Given the description of an element on the screen output the (x, y) to click on. 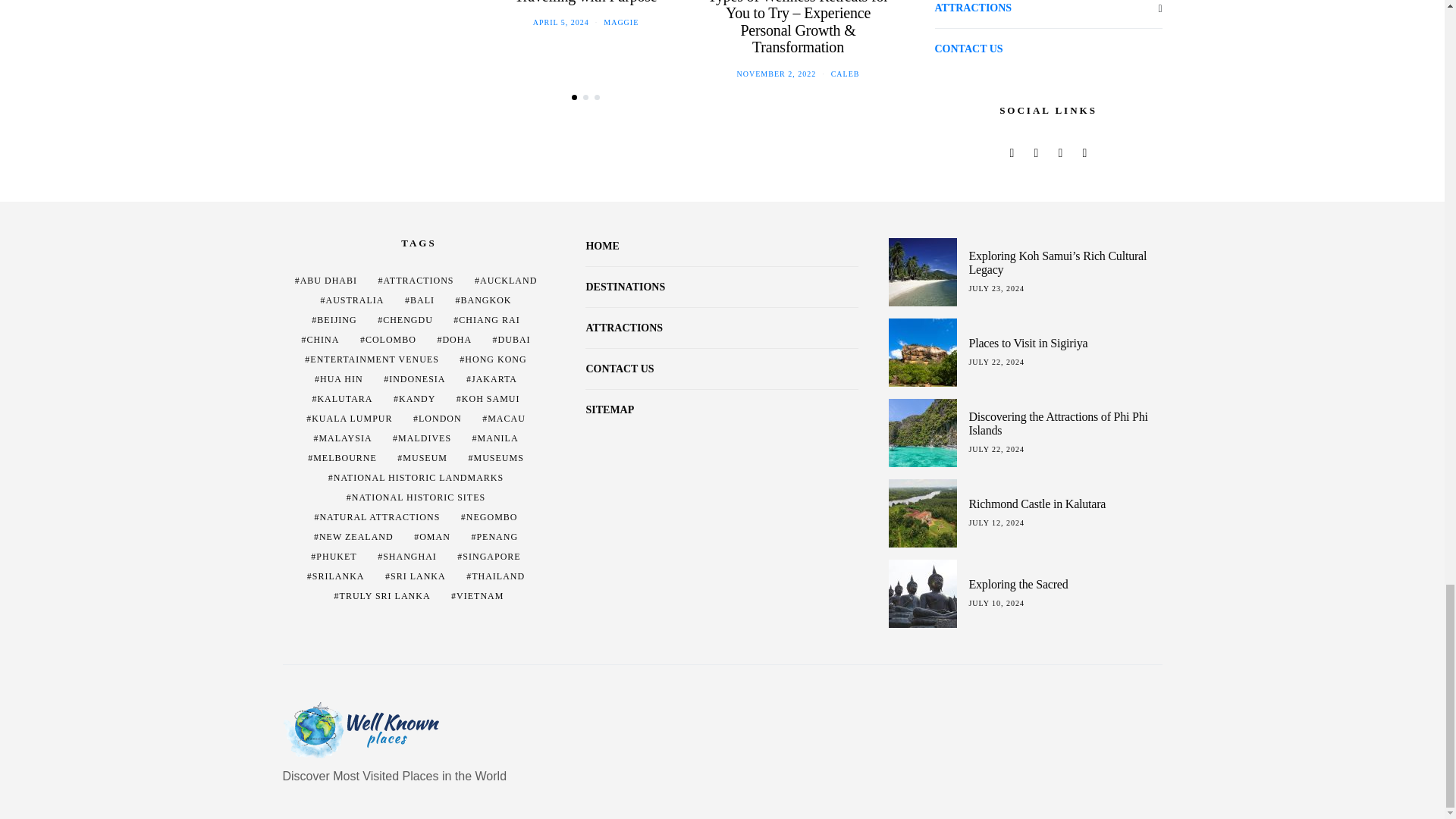
View all posts by caleb (845, 73)
View all posts by maggie (621, 22)
